Given the description of an element on the screen output the (x, y) to click on. 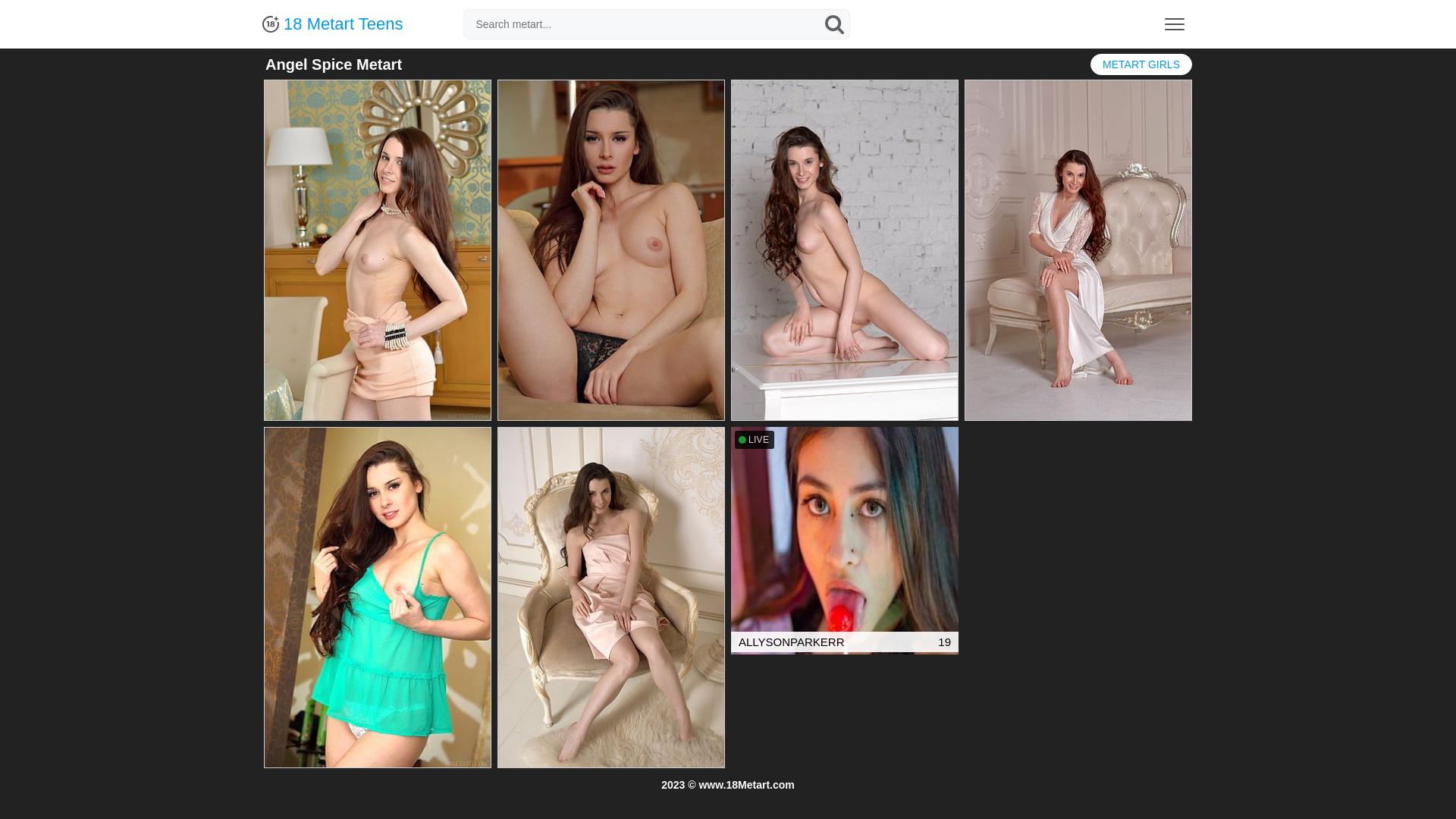
18 Metart Teens Element type: text (332, 23)
METART GIRLS Element type: text (1141, 64)
